Given the description of an element on the screen output the (x, y) to click on. 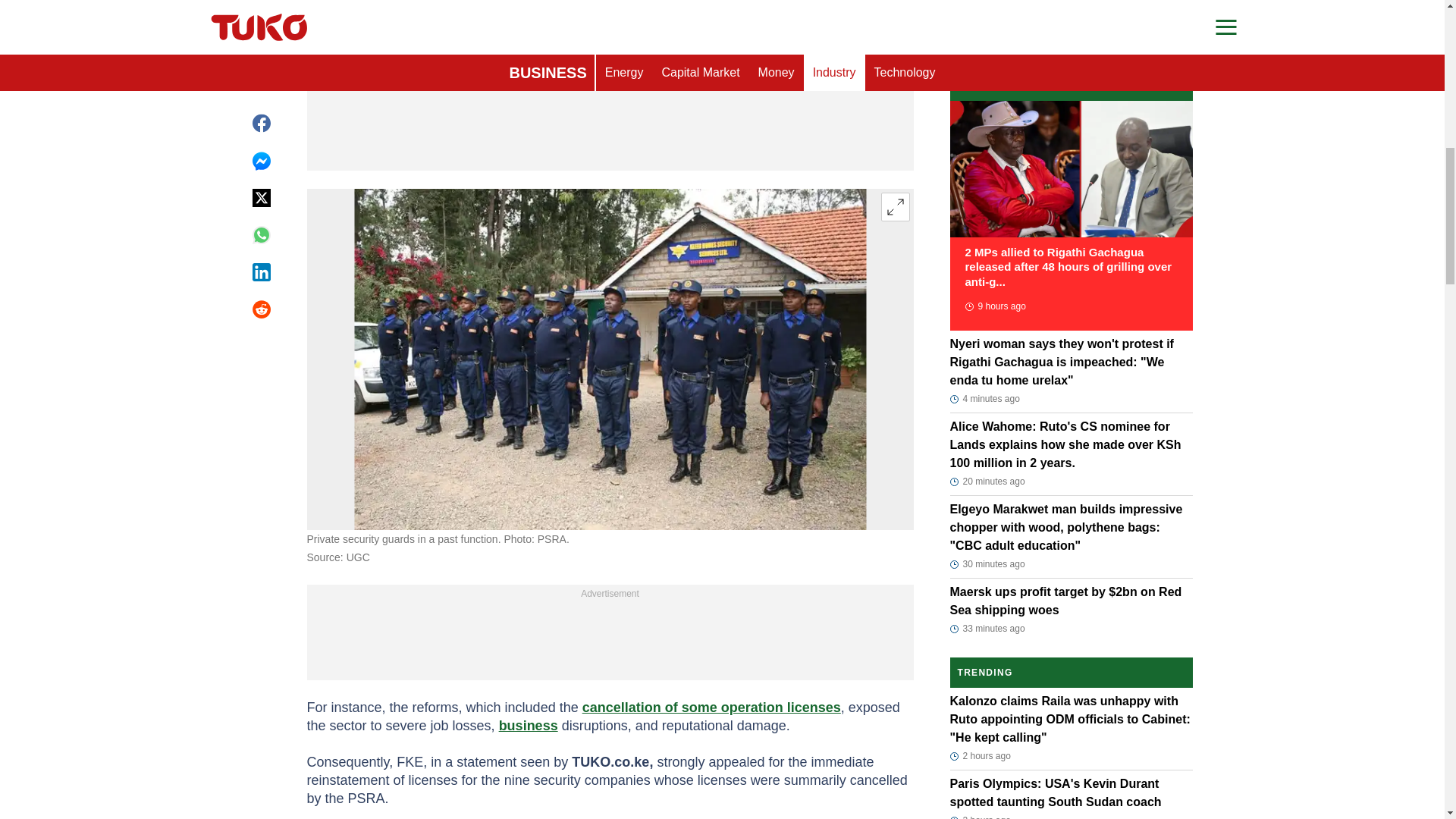
Expand image (895, 206)
